Given the description of an element on the screen output the (x, y) to click on. 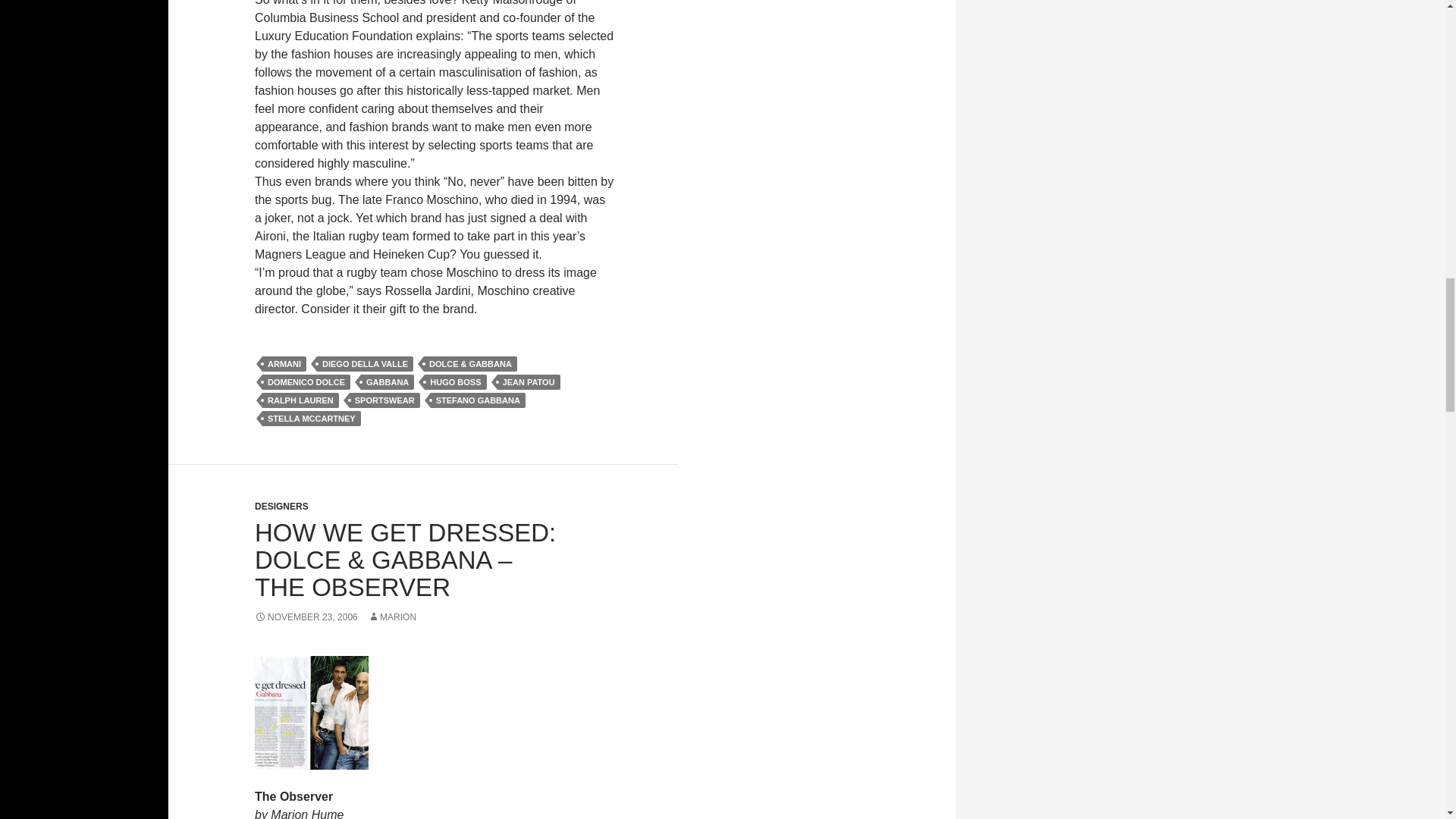
JEAN PATOU (528, 381)
SPORTSWEAR (384, 400)
RALPH LAUREN (300, 400)
DIEGO DELLA VALLE (365, 363)
HUGO BOSS (455, 381)
STEFANO GABBANA (477, 400)
NOVEMBER 23, 2006 (306, 616)
STELLA MCCARTNEY (311, 418)
DOMENICO DOLCE (306, 381)
MARION (392, 616)
